Given the description of an element on the screen output the (x, y) to click on. 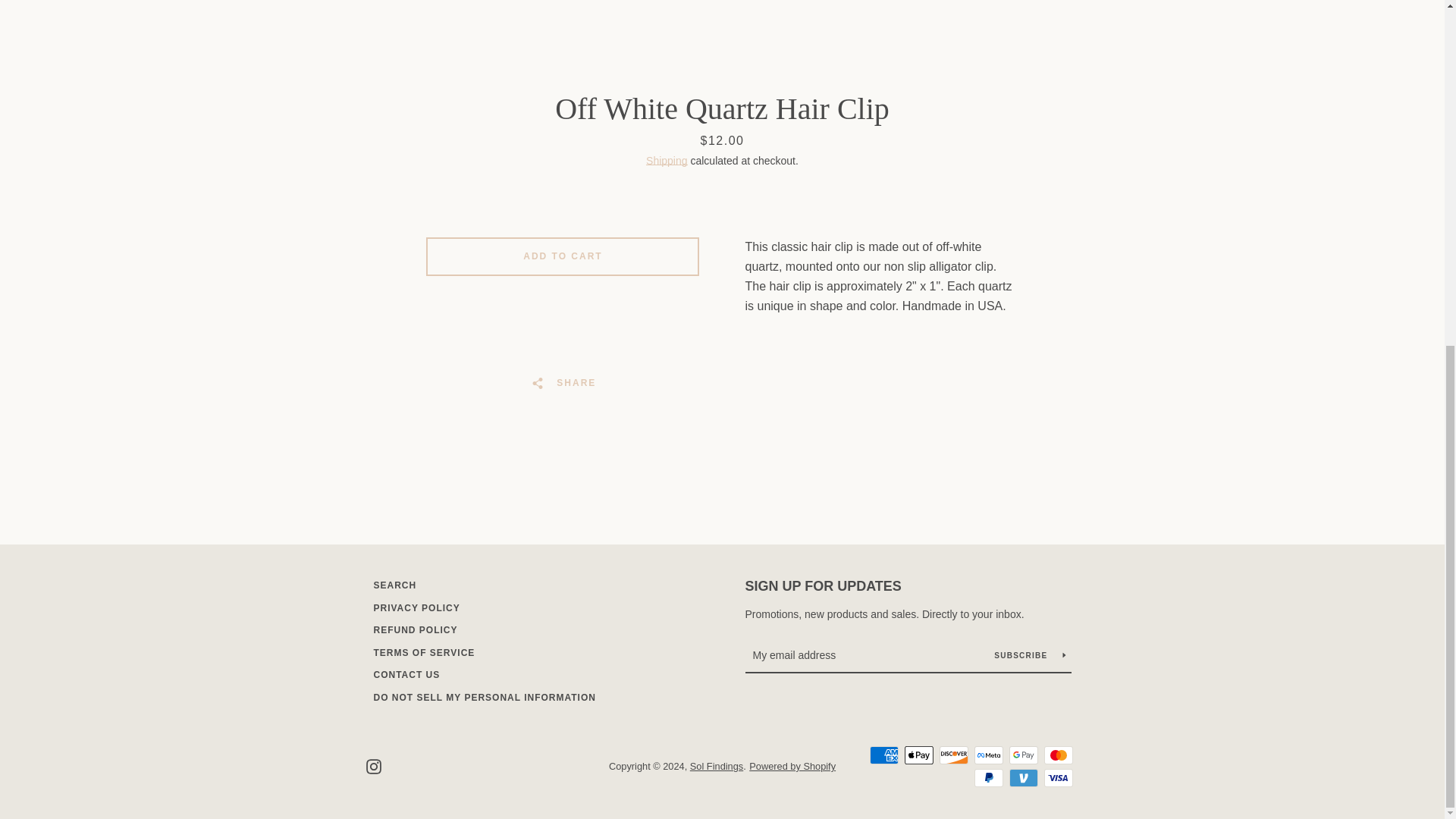
Sol Findings on Instagram (372, 765)
Visa (1057, 778)
Apple Pay (918, 755)
ADD TO CART (562, 256)
Discover (953, 755)
Instagram (372, 765)
Google Pay (1022, 755)
SUBSCRIBE (1029, 654)
Sol Findings (716, 766)
Meta Pay (988, 755)
